Given the description of an element on the screen output the (x, y) to click on. 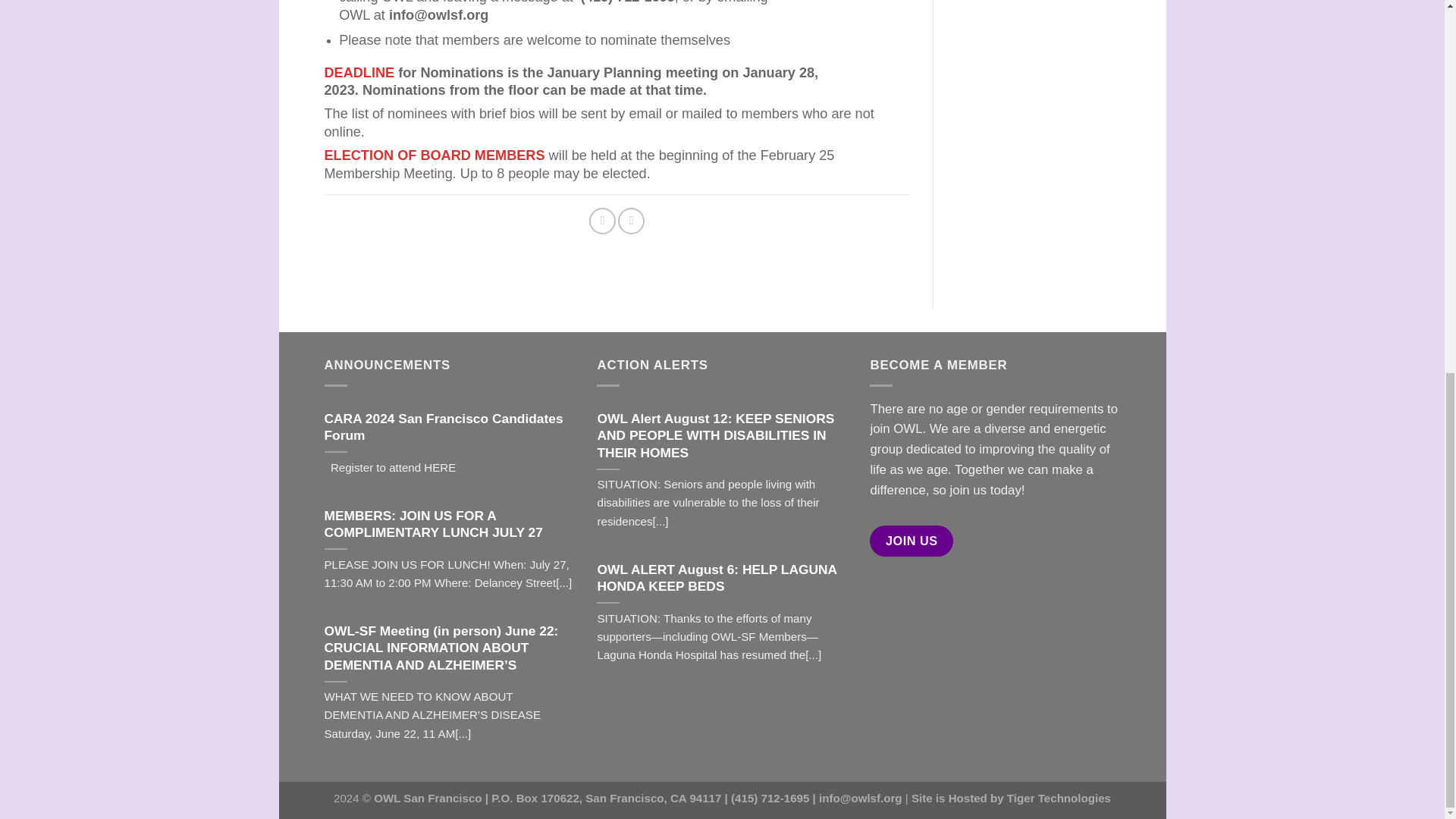
CARA 2024 San Francisco Candidates Forum (449, 427)
Email to a Friend (631, 221)
MEMBERS: JOIN US FOR A COMPLIMENTARY LUNCH JULY 27 (449, 523)
Share on Facebook (602, 221)
OWL ALERT August 6: HELP LAGUNA HONDA KEEP BEDS (721, 578)
